Given the description of an element on the screen output the (x, y) to click on. 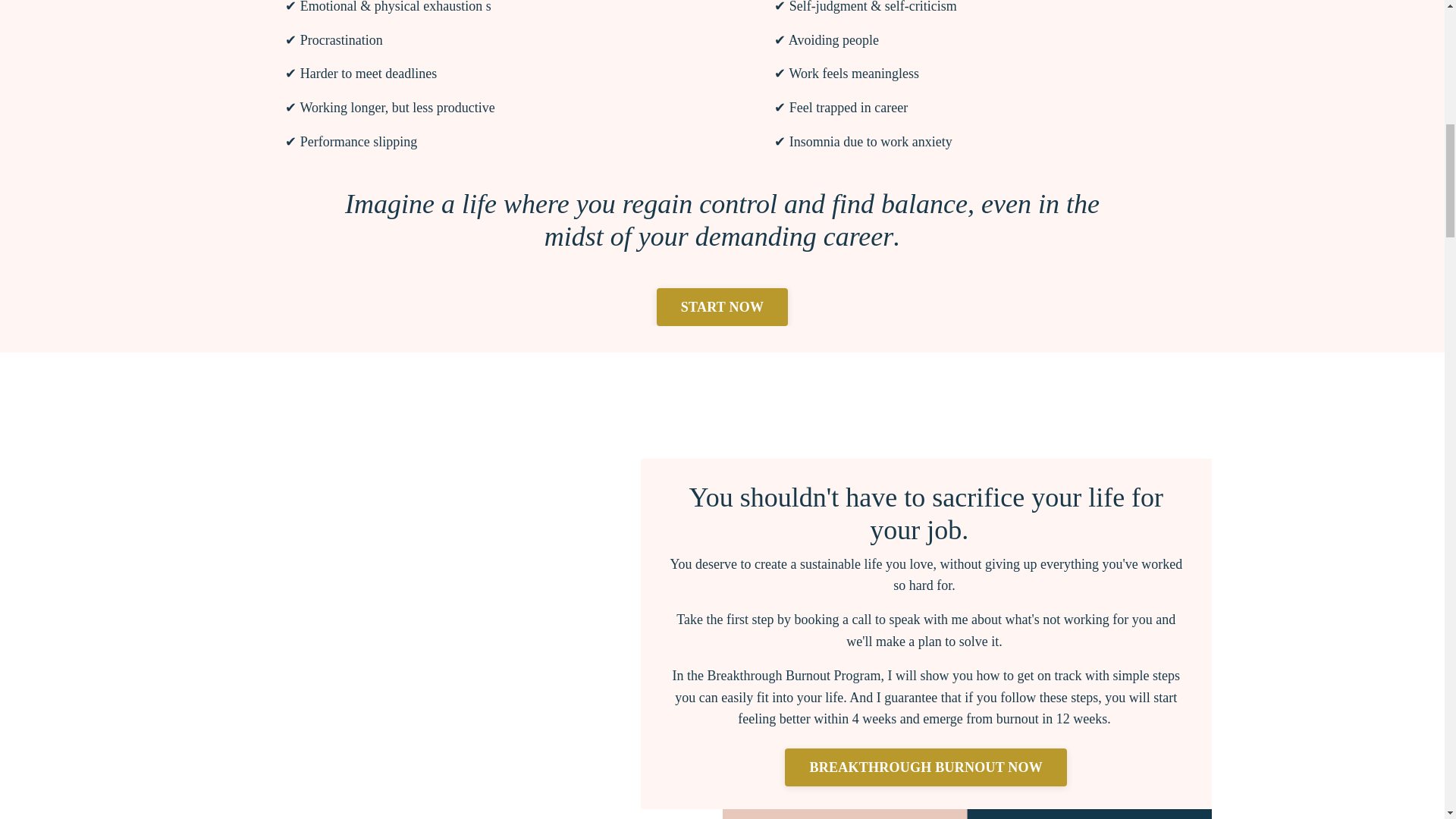
BREAKTHROUGH BURNOUT NOW (925, 767)
START NOW (721, 306)
